Given the description of an element on the screen output the (x, y) to click on. 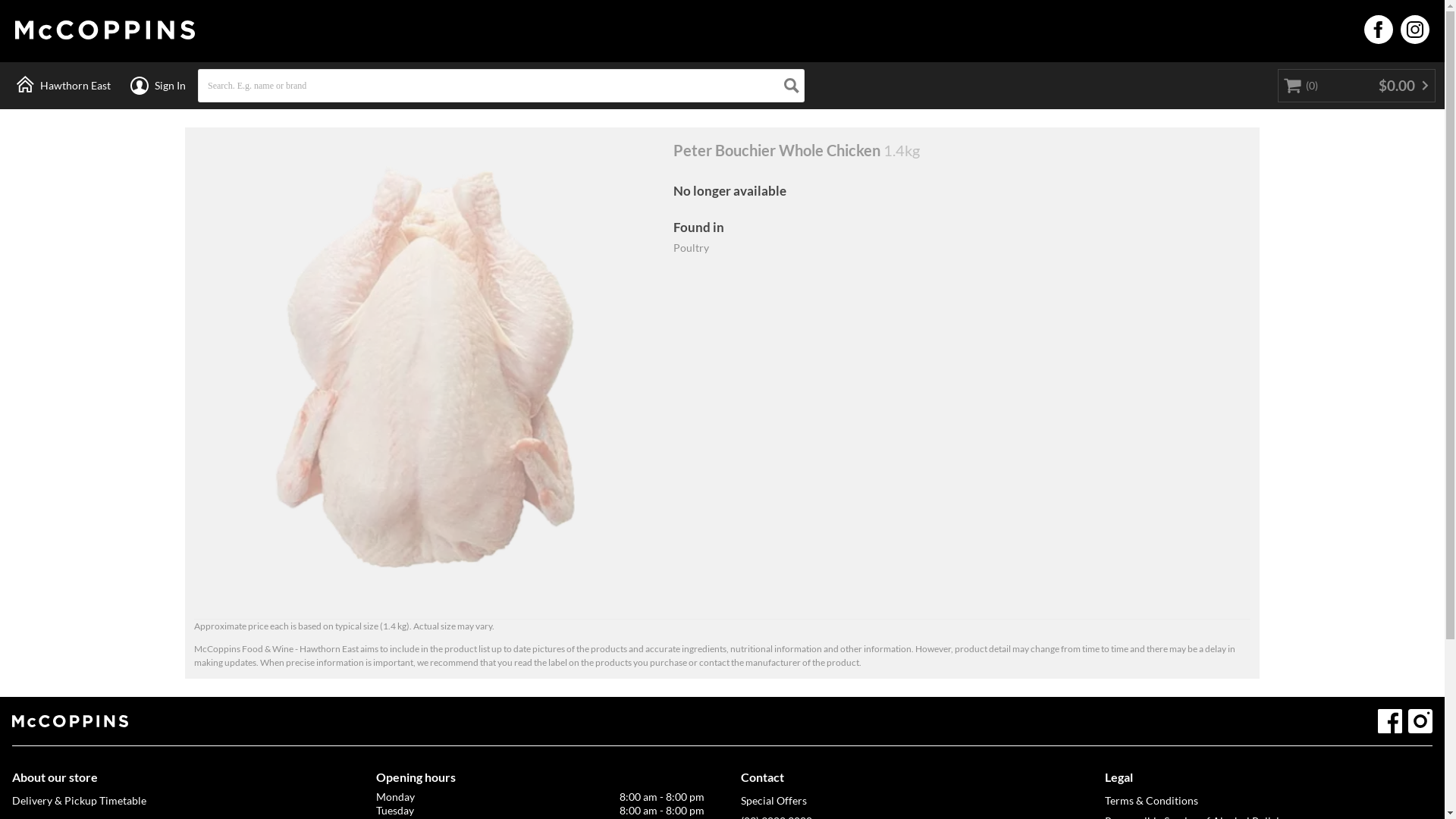
Poultry Element type: text (691, 247)
Sign In Element type: text (157, 85)
Search Element type: hover (791, 85)
Delivery & Pickup Timetable Element type: text (175, 800)
Terms & Conditions Element type: text (1268, 800)
Instagram @mccoppinsfoodandwine Element type: hover (1420, 721)
Facebook Element type: hover (1389, 721)
Hawthorn East Element type: text (63, 85)
Special Offers Element type: text (903, 800)
(0)
$0.00 Element type: text (1356, 85)
